Given the description of an element on the screen output the (x, y) to click on. 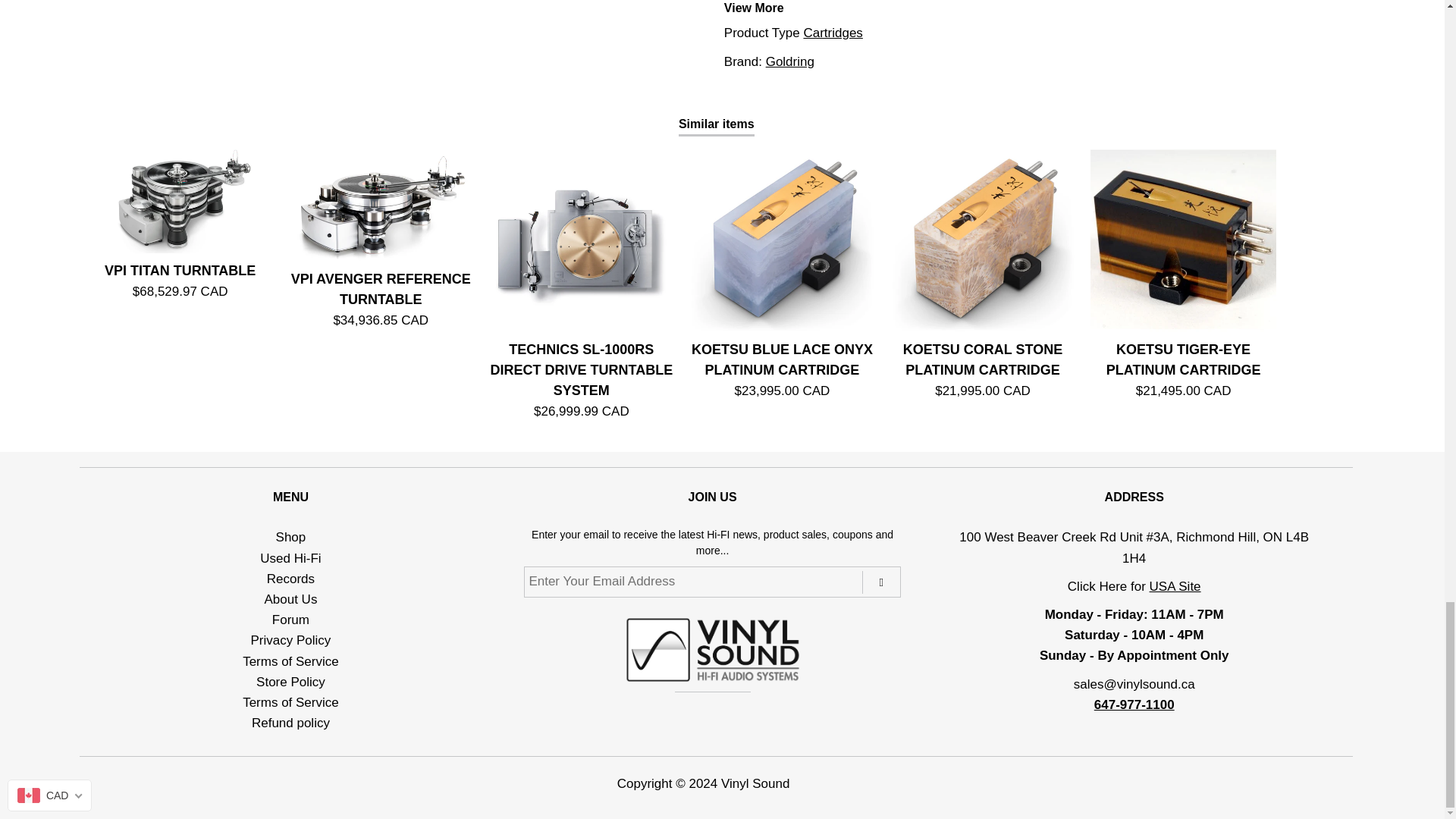
KOETSU CORAL STONE PLATINUM CARTRIDGE (982, 237)
VPI AVENGER REFERENCE TURNTABLE (381, 202)
KOETSU TIGER-EYE PLATINUM CARTRIDGE (1183, 237)
VPI TITAN TURNTABLE (180, 198)
Cartridges (832, 32)
Goldring (789, 61)
KOETSU BLUE LACE ONYX PLATINUM CARTRIDGE (781, 237)
TECHNICS SL-1000RS DIRECT DRIVE TURNTABLE SYSTEM (580, 237)
